Given the description of an element on the screen output the (x, y) to click on. 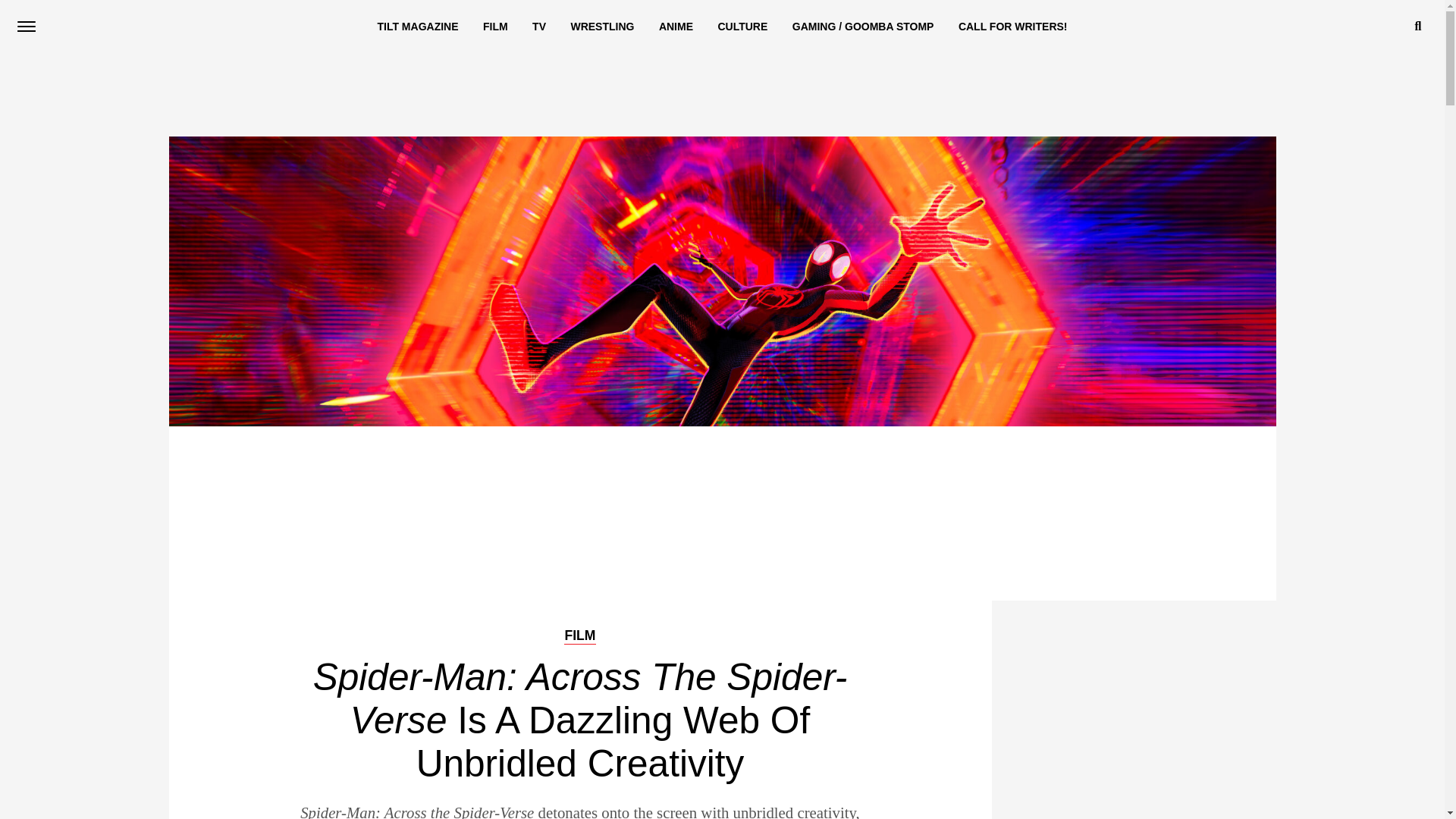
WRESTLING (602, 26)
FILM (579, 635)
CALL FOR WRITERS! (1012, 26)
CULTURE (741, 26)
TILT MAGAZINE (417, 26)
ANIME (675, 26)
